Given the description of an element on the screen output the (x, y) to click on. 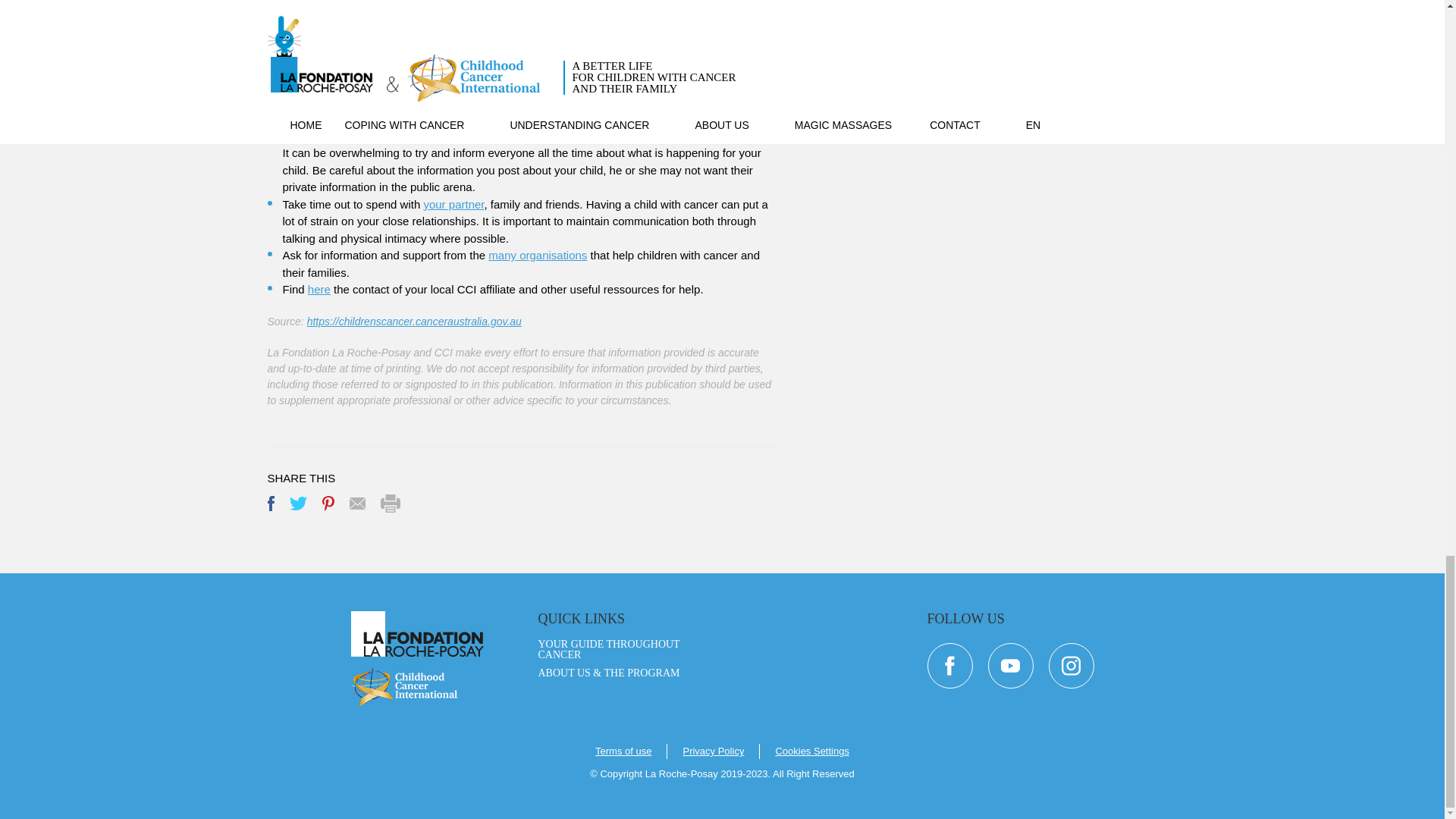
Facebook (270, 503)
